Given the description of an element on the screen output the (x, y) to click on. 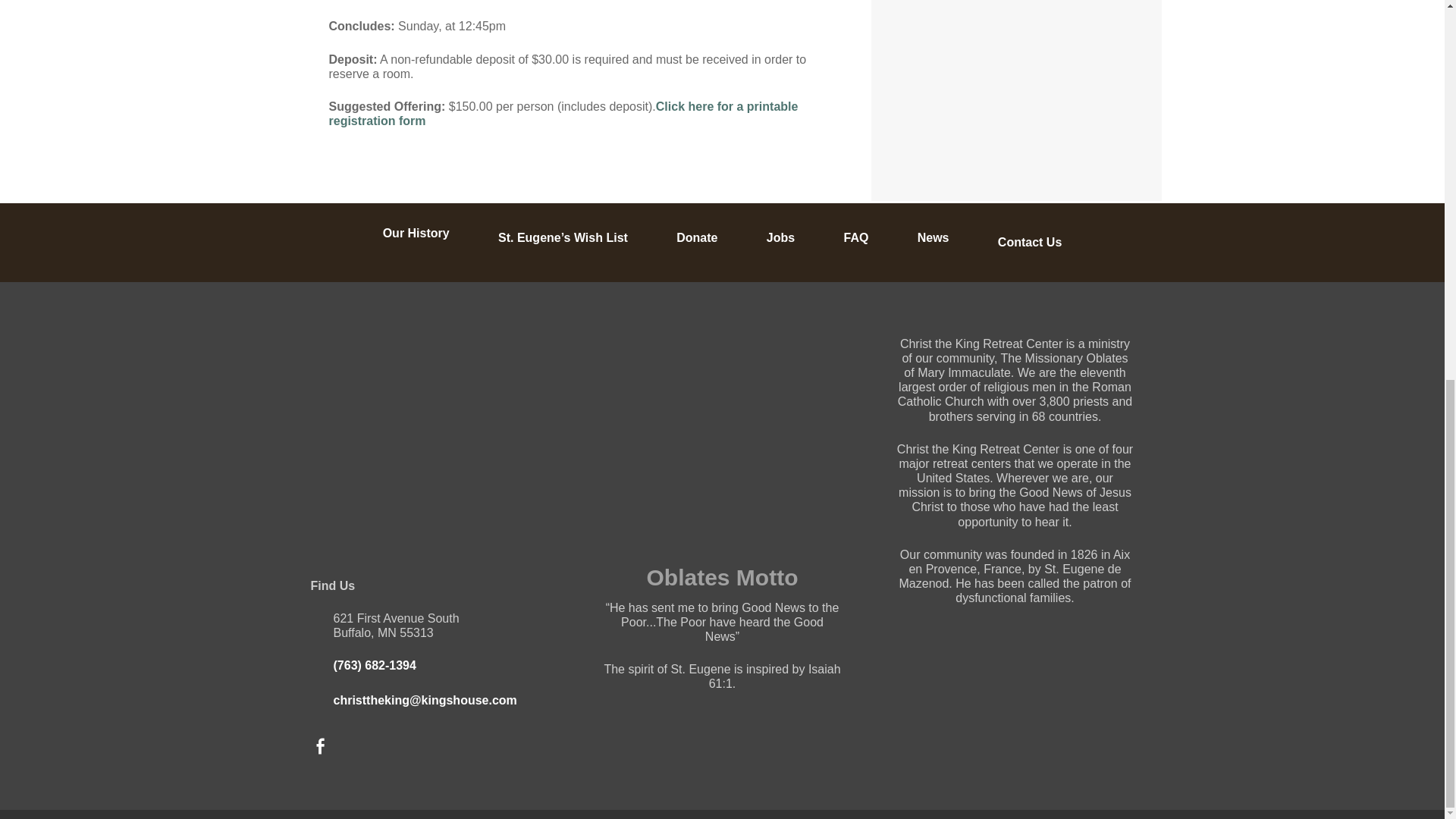
FAQ (855, 237)
Jobs (780, 237)
Contact Us (1029, 241)
Click here for a printable registration form (563, 113)
News (933, 237)
Donate (697, 237)
Our History (415, 232)
